Given the description of an element on the screen output the (x, y) to click on. 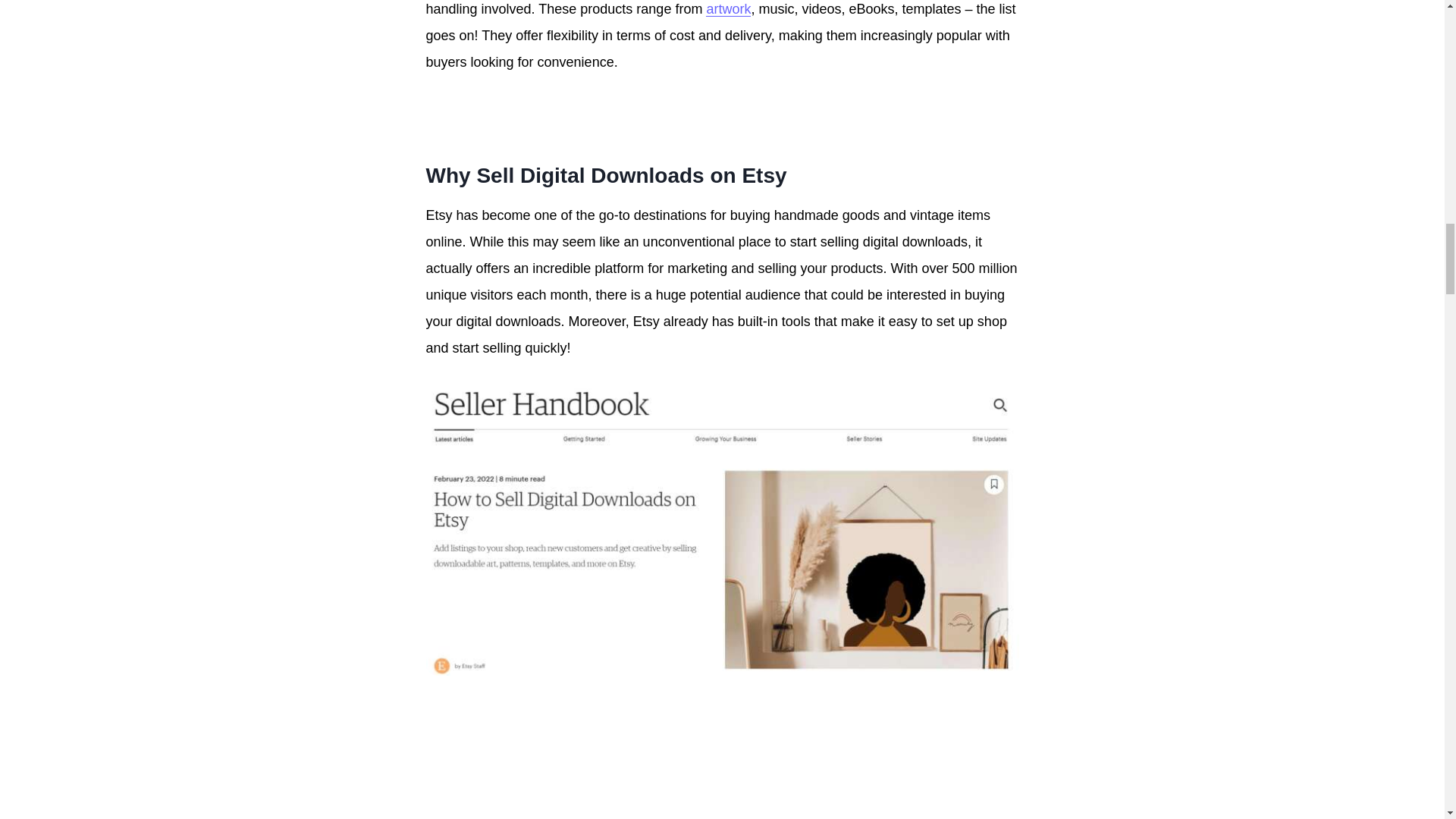
artwork (728, 8)
